Given the description of an element on the screen output the (x, y) to click on. 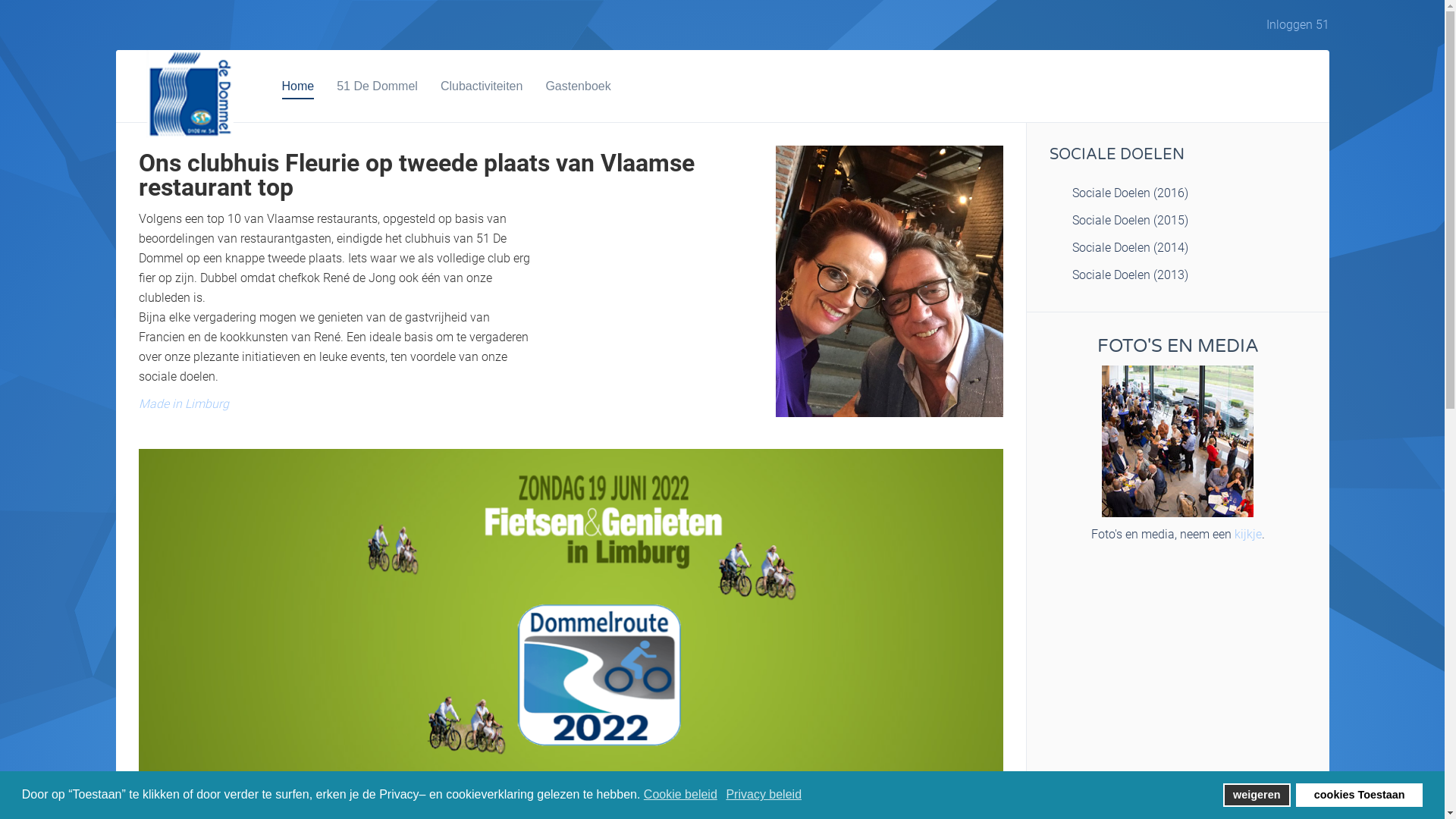
Sociale Doelen (2014) Element type: text (1177, 247)
De Dommel Element type: hover (1177, 441)
weigeren Element type: text (1256, 794)
Cookie beleid Element type: text (681, 794)
kijkje Element type: text (1247, 534)
Sociale Doelen (2016) Element type: text (1177, 193)
Inloggen 51 Element type: text (1297, 24)
Sociale Doelen (2015) Element type: text (1177, 220)
Sociale Doelen (2013) Element type: text (1177, 274)
Gastenboek Element type: text (577, 86)
Privacy beleid Element type: text (764, 794)
Logo51 Element type: hover (188, 94)
51 De Dommel Element type: text (376, 86)
Made in Limburg Element type: text (183, 403)
Clubactiviteiten Element type: text (481, 86)
cookies Toestaan Element type: text (1358, 794)
Home Element type: text (298, 86)
